Given the description of an element on the screen output the (x, y) to click on. 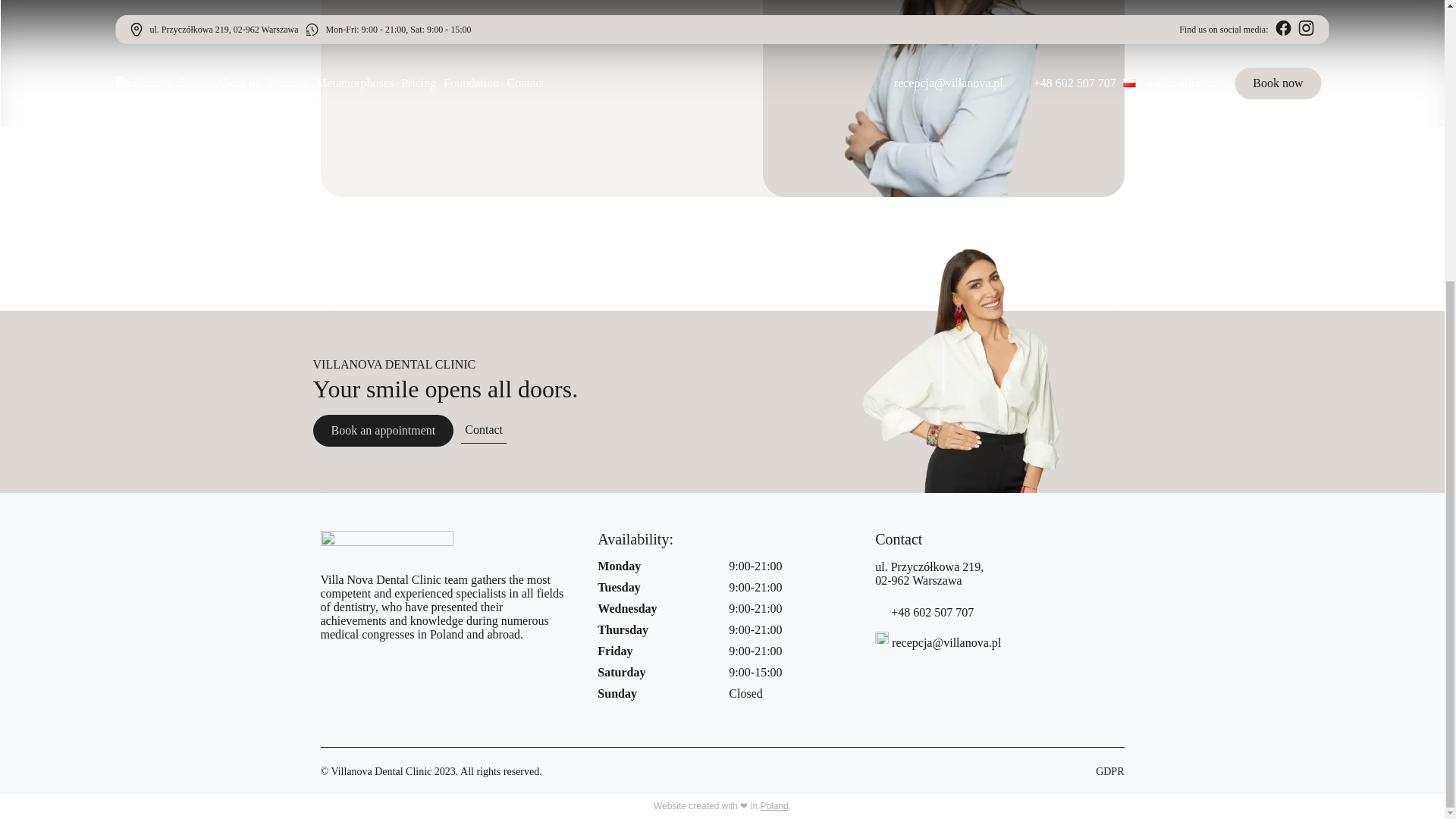
Book an appointment (387, 430)
Book an appointment (382, 430)
GDPR (1110, 771)
Contact (487, 429)
Contact (483, 429)
